Given the description of an element on the screen output the (x, y) to click on. 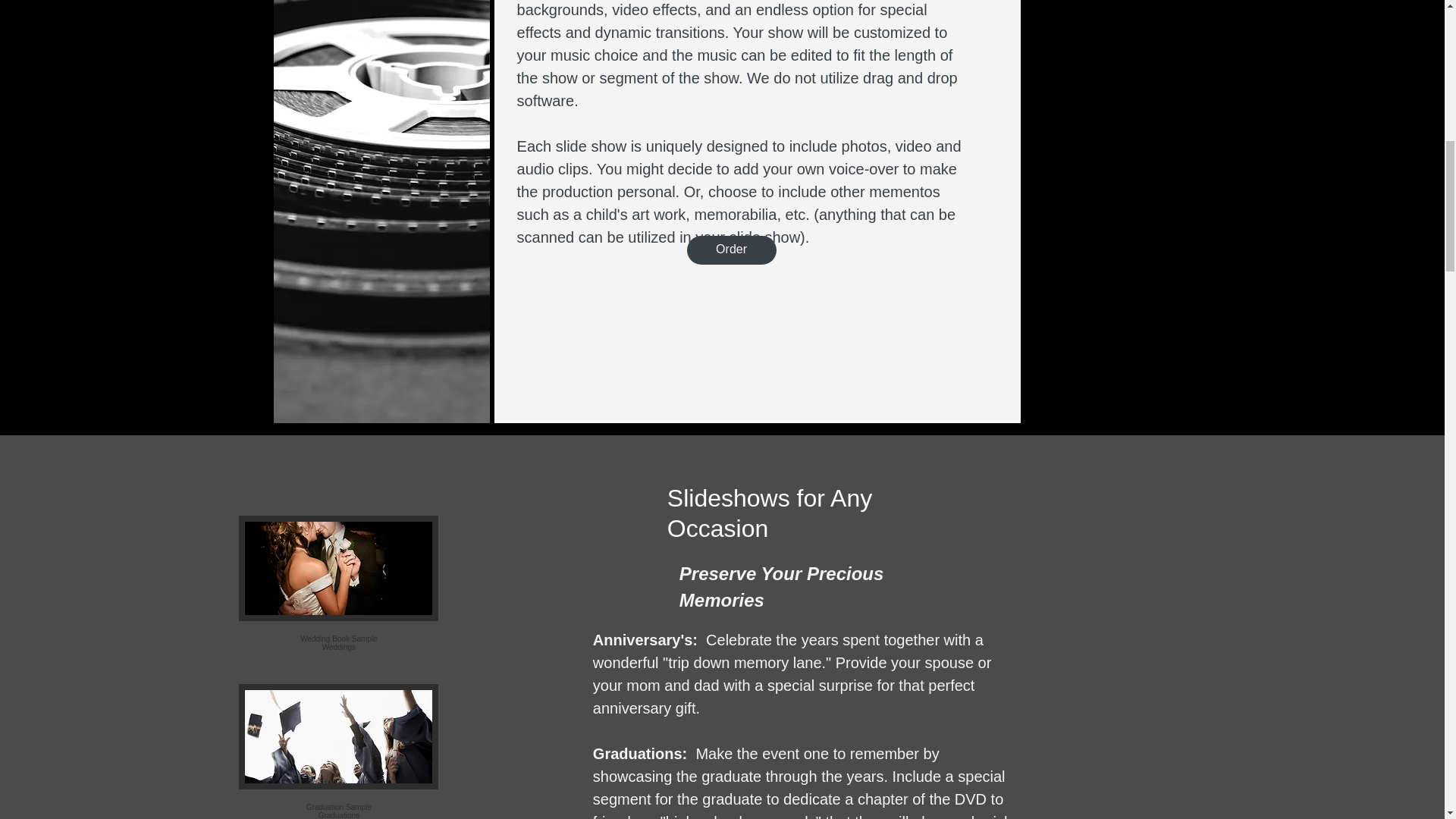
Order (338, 599)
